Given the description of an element on the screen output the (x, y) to click on. 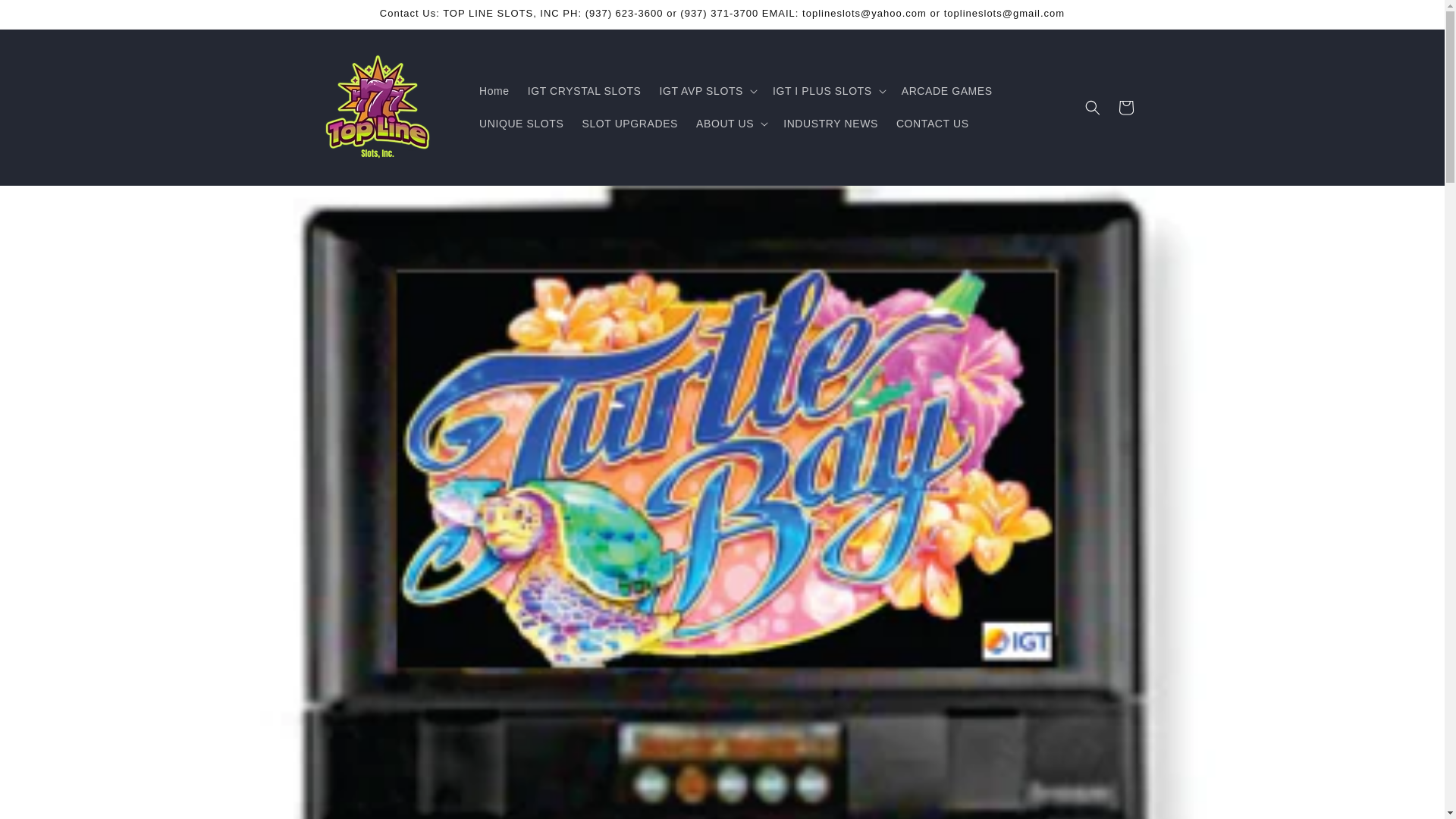
ARCADE GAMES (946, 91)
UNIQUE SLOTS (521, 123)
SLOT UPGRADES (629, 123)
INDUSTRY NEWS (830, 123)
IGT CRYSTAL SLOTS (584, 91)
Home (494, 91)
Skip to content (45, 17)
CONTACT US (932, 123)
